Given the description of an element on the screen output the (x, y) to click on. 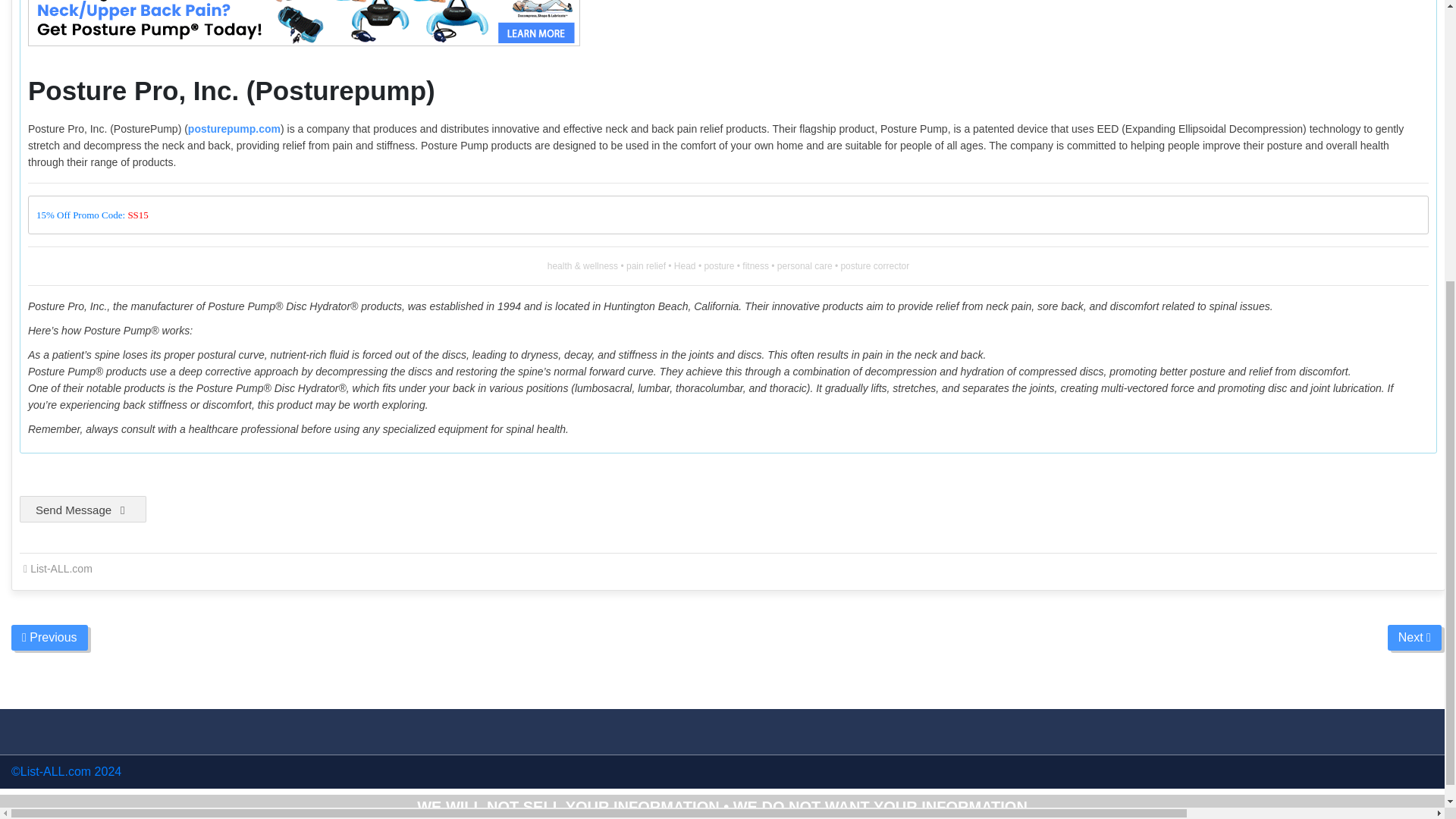
Send Message (83, 509)
View all posts by List-ALL.com (61, 568)
Previous (49, 637)
Next (1414, 637)
posturepump.com (234, 128)
List-ALL.com (61, 568)
